Given the description of an element on the screen output the (x, y) to click on. 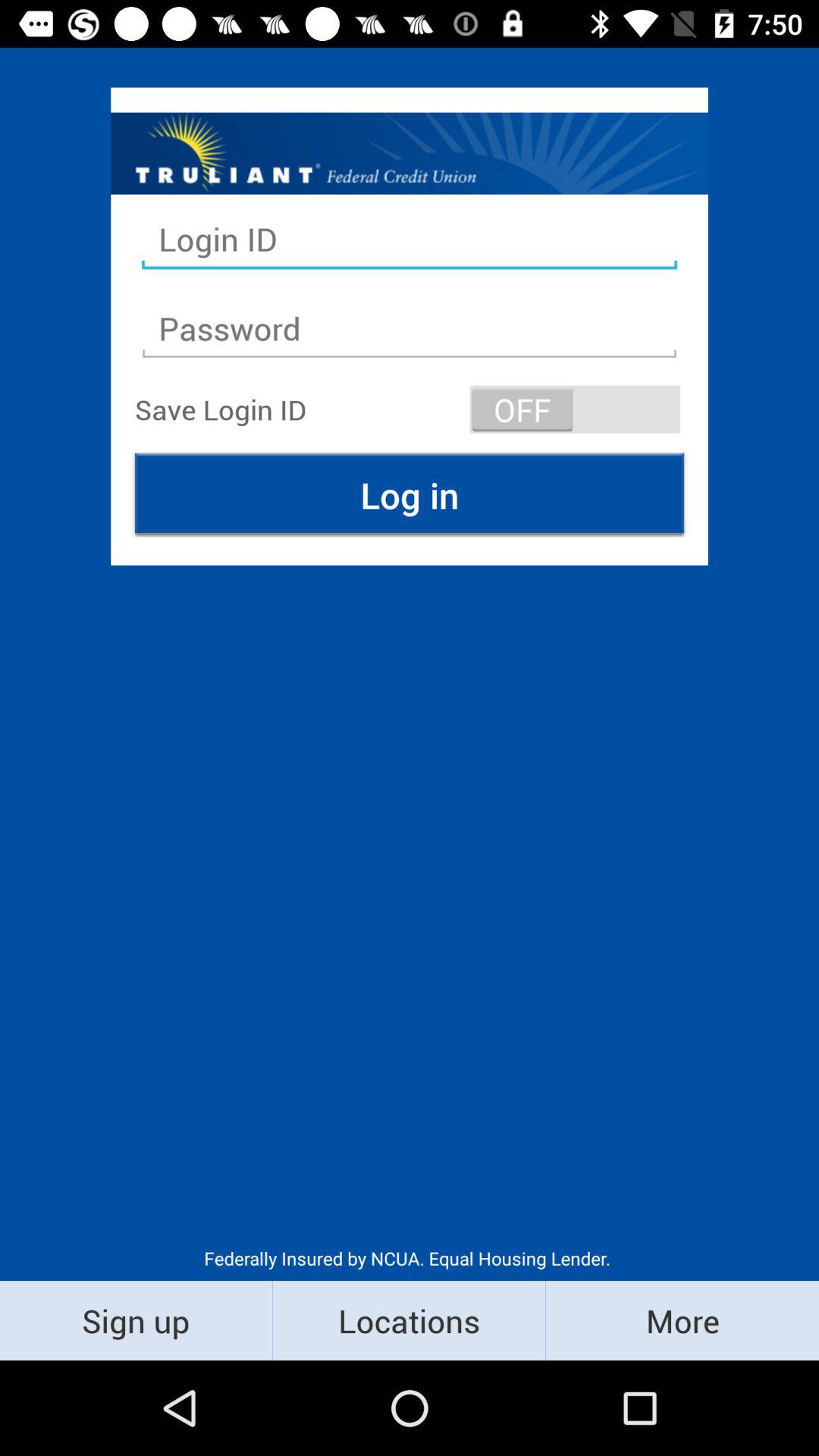
launch the sign up (136, 1320)
